Given the description of an element on the screen output the (x, y) to click on. 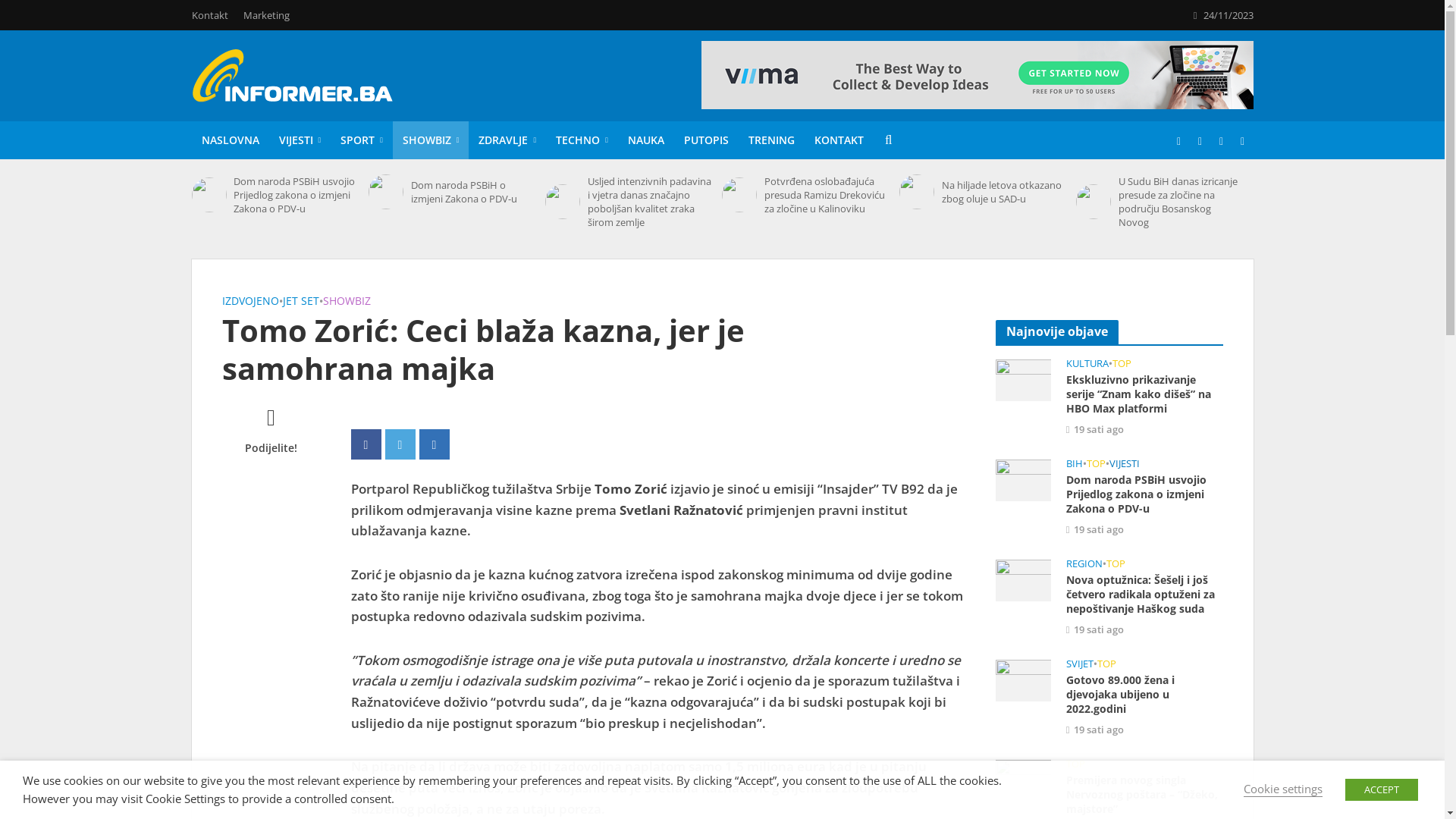
SHOWBIZ Element type: text (346, 302)
SHOWBIZ Element type: text (430, 140)
NASLOVNA Element type: text (229, 140)
TOP Element type: text (1095, 464)
Dom naroda PSBiH o izmjeni Zakona o PDV-u Element type: hover (385, 191)
IZDVOJENO Element type: text (249, 302)
SVIJET Element type: text (1079, 664)
JET SET Element type: text (300, 302)
Cookie settings Element type: text (1282, 789)
Marketing Element type: text (265, 15)
SPORT Element type: text (361, 140)
KONTAKT Element type: text (838, 140)
TOP Element type: text (1115, 564)
TRENING Element type: text (771, 140)
BIH Element type: text (1074, 464)
PUTOPIS Element type: text (706, 140)
REGION Element type: text (1084, 564)
Na hiljade letova otkazano zbog oluje u SAD-u Element type: text (1003, 191)
VIJESTI Element type: text (299, 140)
TECHNO Element type: text (582, 140)
VIJESTI Element type: text (1124, 464)
TOP Element type: text (1106, 664)
ZDRAVLJE Element type: text (507, 140)
Dom naroda PSBiH o izmjeni Zakona o PDV-u Element type: text (473, 191)
TOP Element type: text (1121, 364)
ACCEPT Element type: text (1381, 789)
Kontakt Element type: text (213, 15)
TOP Element type: text (1075, 764)
NAUKA Element type: text (646, 140)
KULTURA Element type: text (1087, 364)
Na hiljade letova otkazano zbog oluje u SAD-u Element type: hover (916, 191)
